Given the description of an element on the screen output the (x, y) to click on. 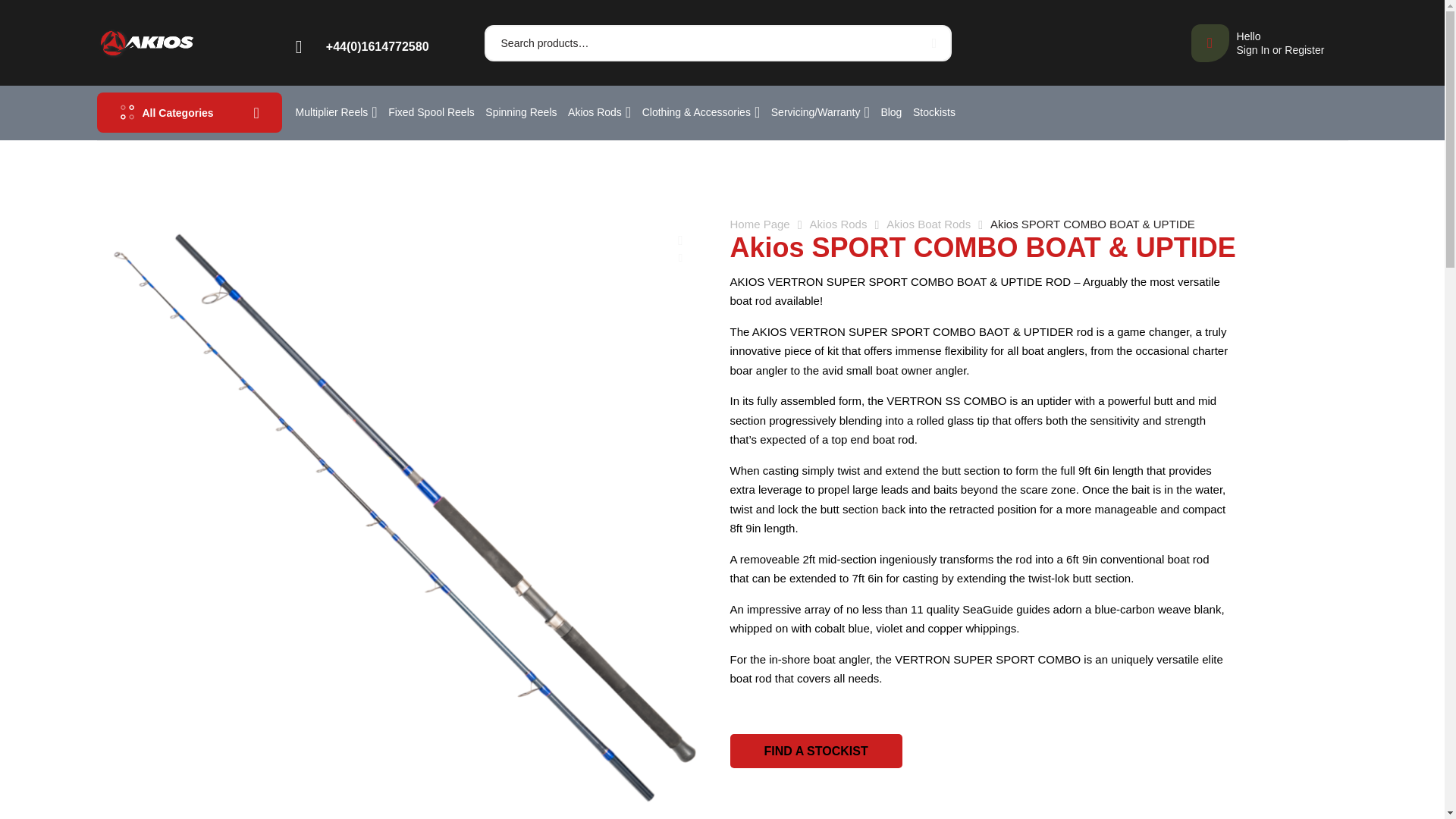
Search (1257, 43)
Multiplier Reels (931, 43)
